Given the description of an element on the screen output the (x, y) to click on. 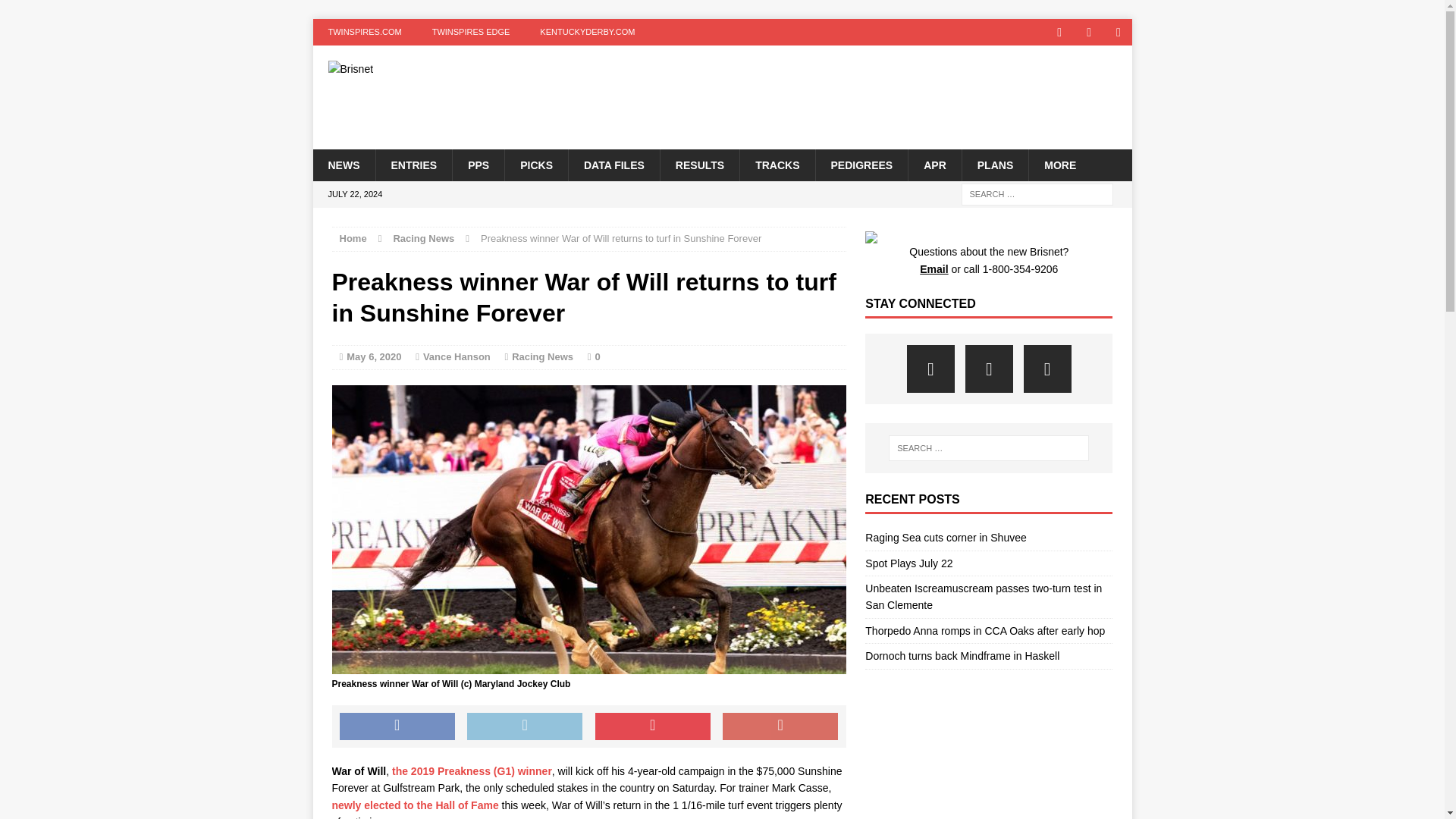
APR (933, 164)
Tweet This Post (524, 726)
ENTRIES (412, 164)
RESULTS (699, 164)
PLANS (993, 164)
Share on Facebook (396, 726)
PPS (477, 164)
NEWS (343, 164)
Brisnet (442, 68)
MORE (1058, 164)
PICKS (535, 164)
TWINSPIRES EDGE (470, 31)
KENTUCKYDERBY.COM (586, 31)
TWINSPIRES.COM (364, 31)
PEDIGREES (860, 164)
